Given the description of an element on the screen output the (x, y) to click on. 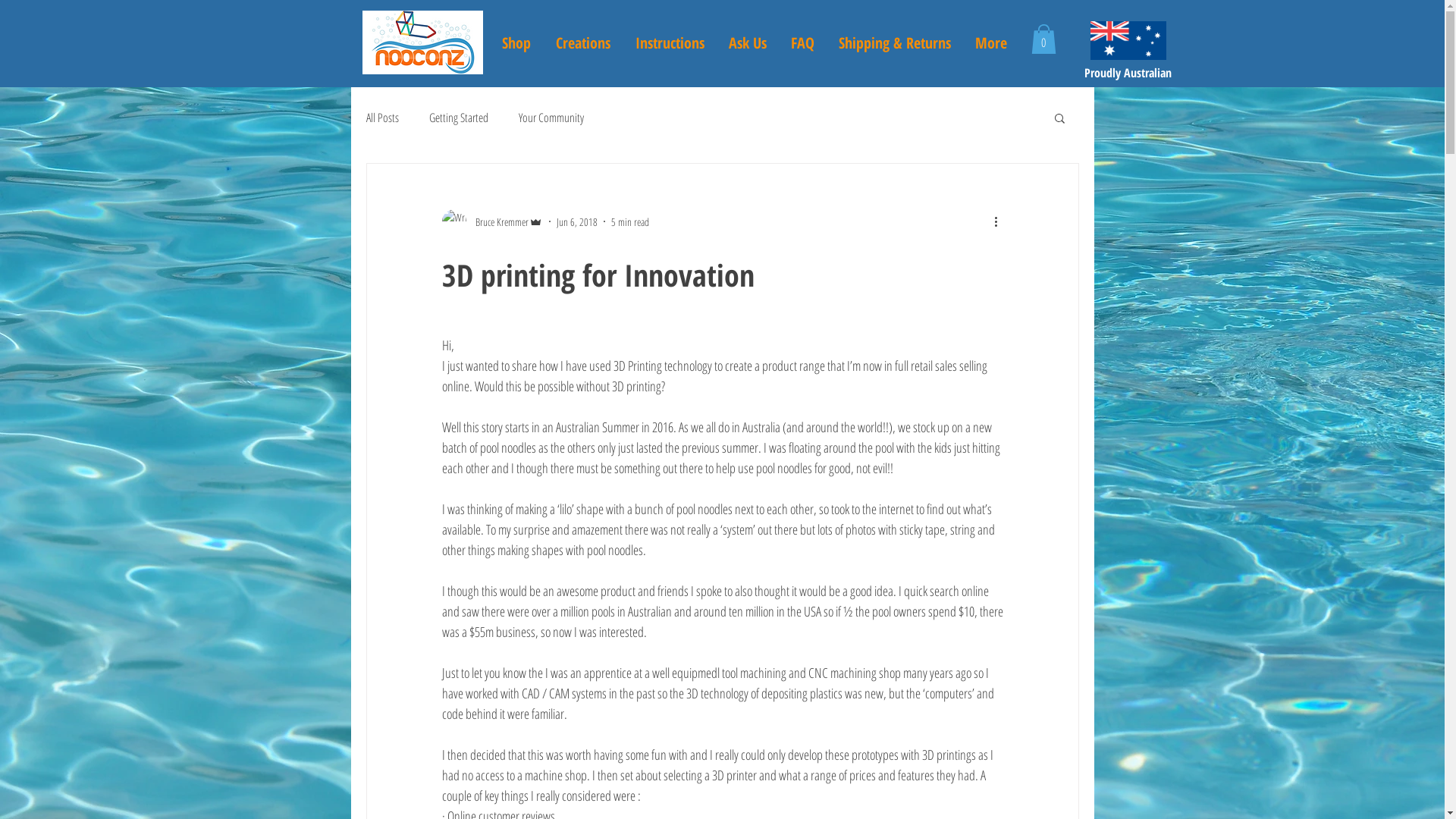
0 Element type: text (1043, 38)
Bruce Kremmer Element type: text (491, 221)
All Posts Element type: text (381, 117)
FAQ Element type: text (801, 43)
Instructions Element type: text (669, 43)
Creations Element type: text (582, 43)
Shop Element type: text (516, 43)
Getting Started Element type: text (458, 117)
Shipping & Returns Element type: text (894, 43)
Ask Us Element type: text (746, 43)
Your Community Element type: text (550, 117)
flag_template_colour.gif Element type: hover (1128, 40)
